Given the description of an element on the screen output the (x, y) to click on. 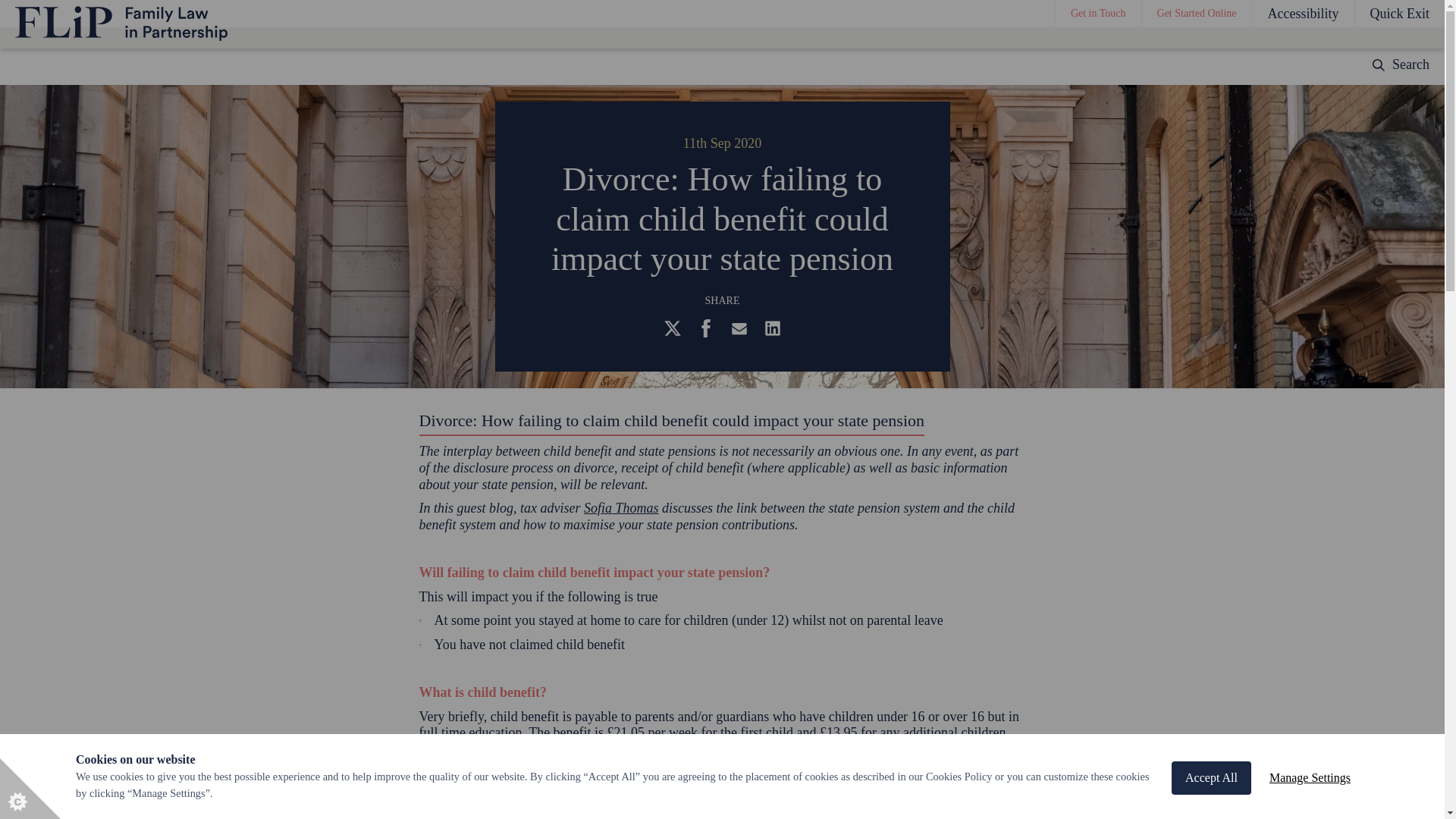
Get in Touch (1097, 13)
Sofia Thomas (621, 507)
Accessibility (1303, 13)
Manage Settings (1309, 816)
Get Started Online (1196, 13)
